Given the description of an element on the screen output the (x, y) to click on. 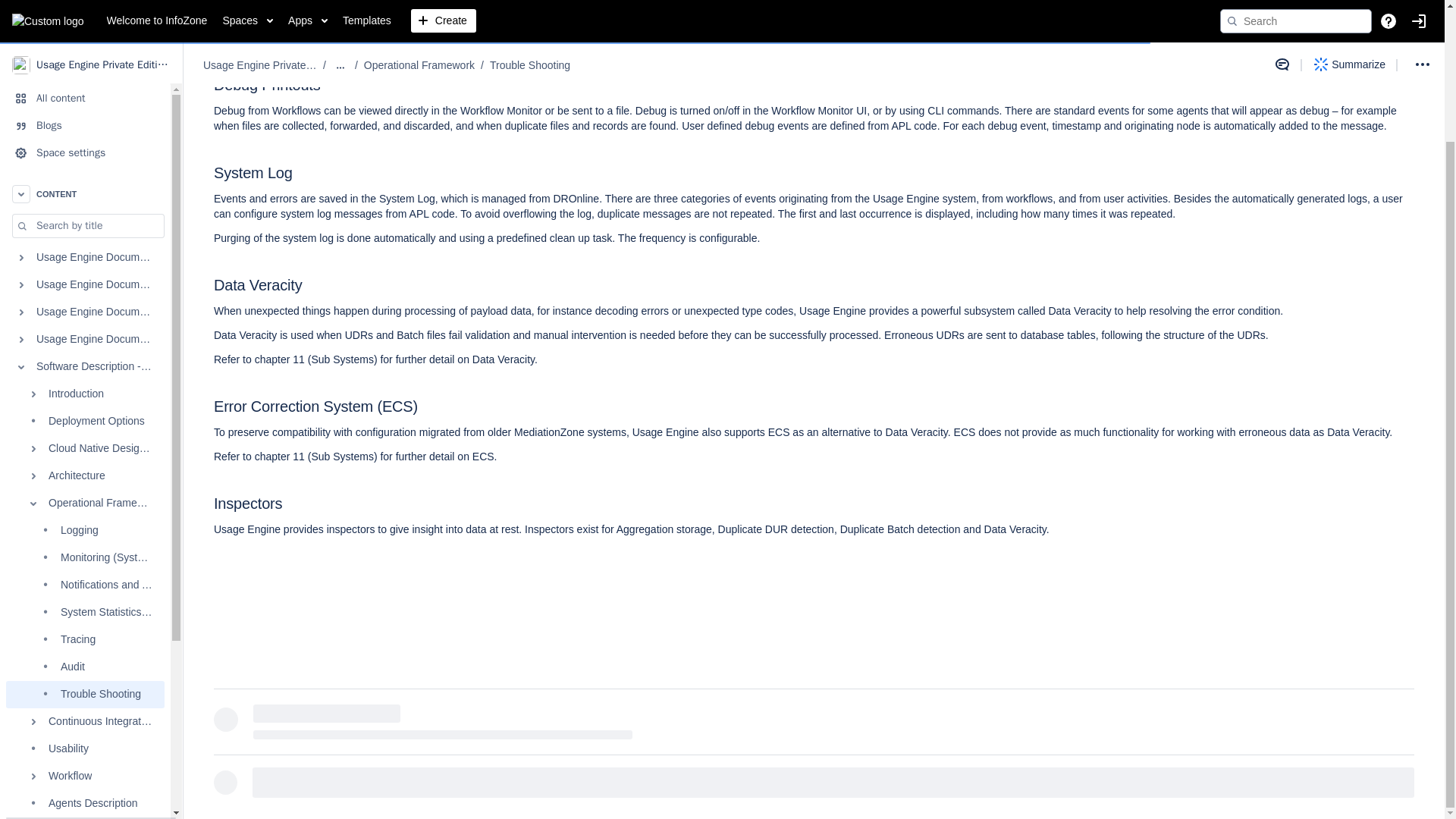
Usage Engine Documentation 3.3 (84, 179)
CONTENT (84, 33)
Operational Framework (84, 343)
Space settings (84, 3)
Usage Engine Documentation 3.0 (84, 97)
Introduction (84, 234)
Usage Engine Documentation 3.1 (84, 124)
Cloud Native Design Principles (84, 288)
Usage Engine Documentation 3.2 (84, 152)
Architecture (84, 316)
Software Description - Usage Engine Private Edition (84, 206)
